Given the description of an element on the screen output the (x, y) to click on. 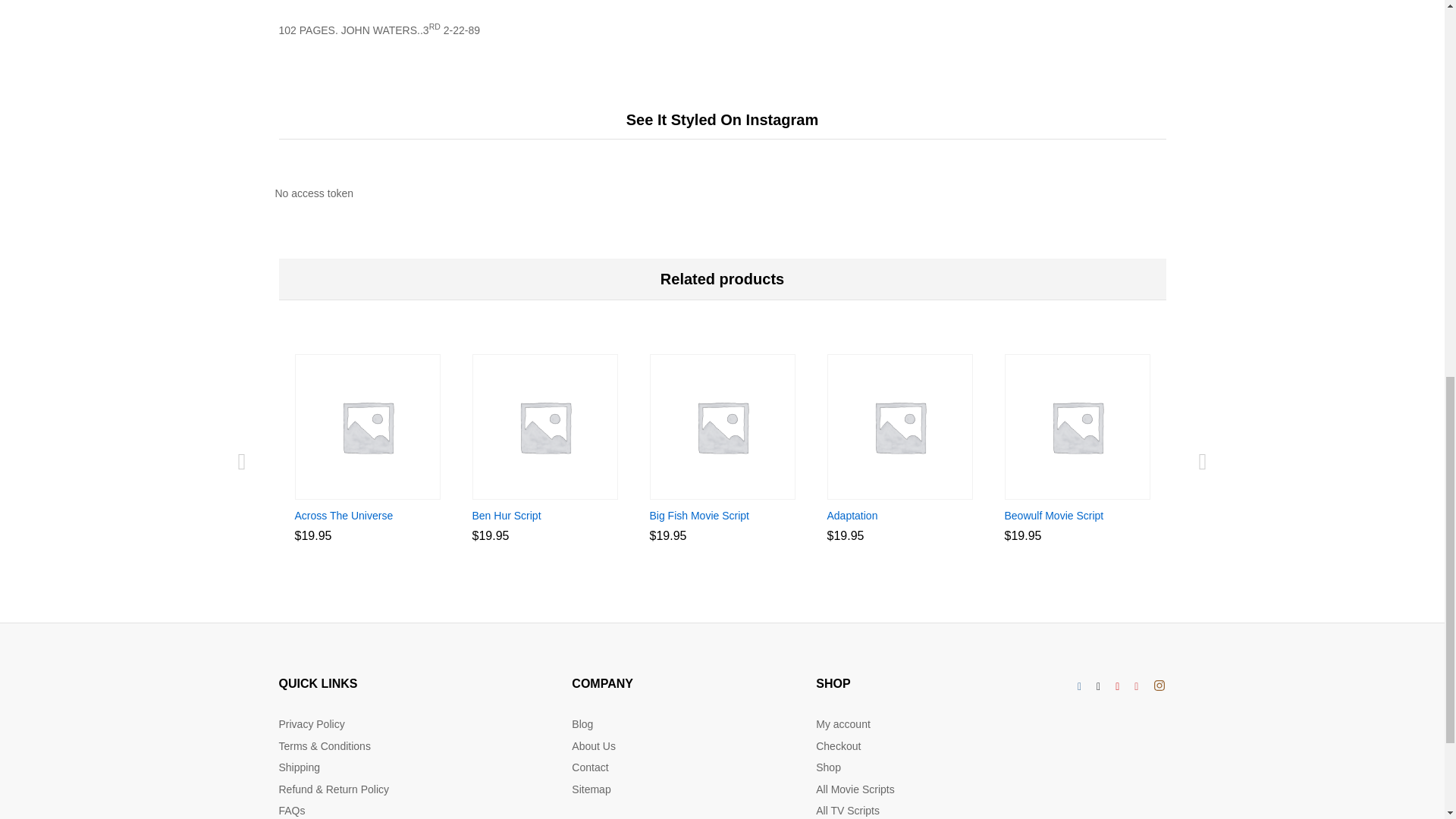
Across The Universe (343, 515)
